Given the description of an element on the screen output the (x, y) to click on. 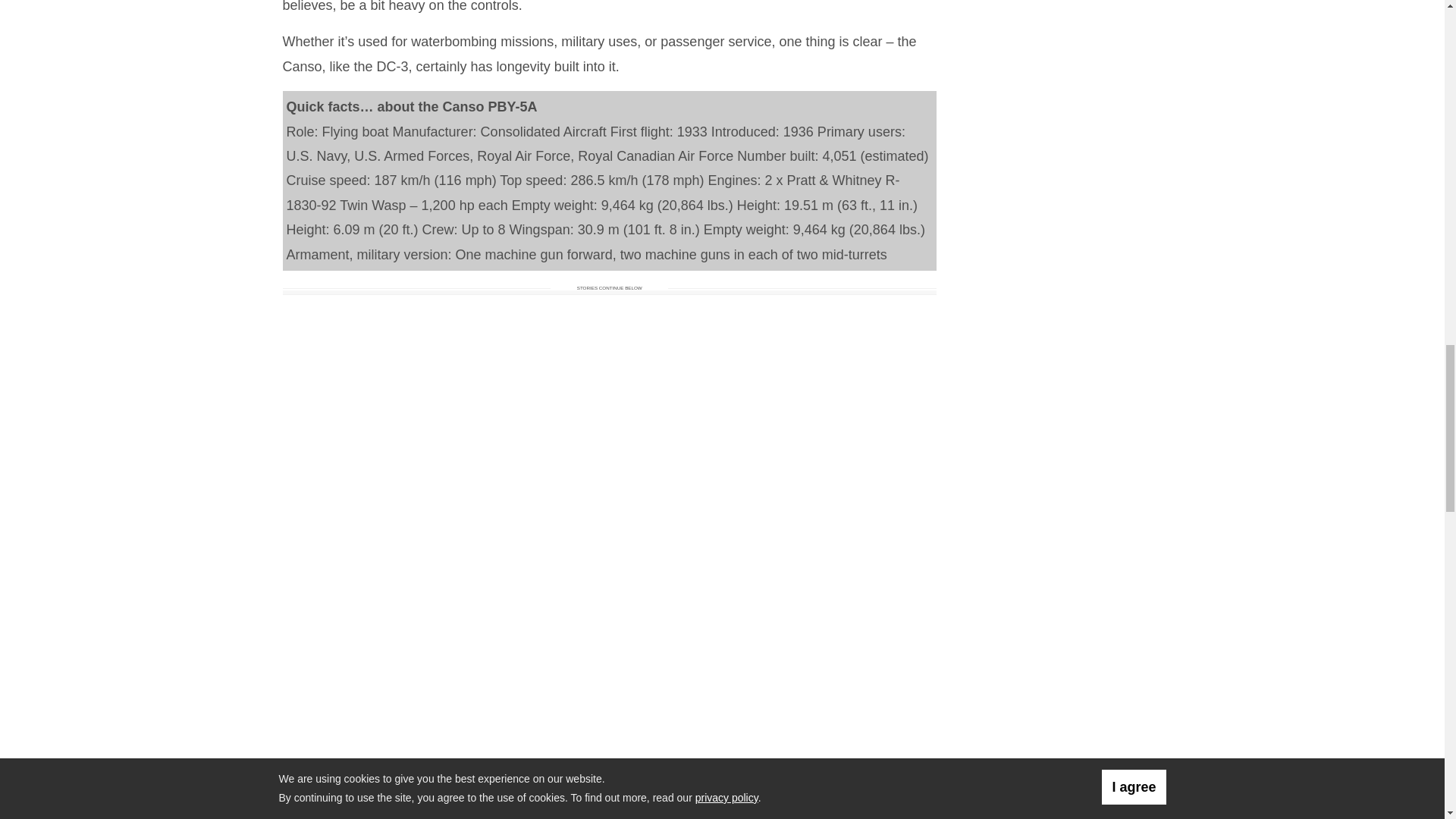
3rd party ad content (1060, 53)
3rd party ad content (1060, 209)
3rd party ad content (1060, 407)
